Given the description of an element on the screen output the (x, y) to click on. 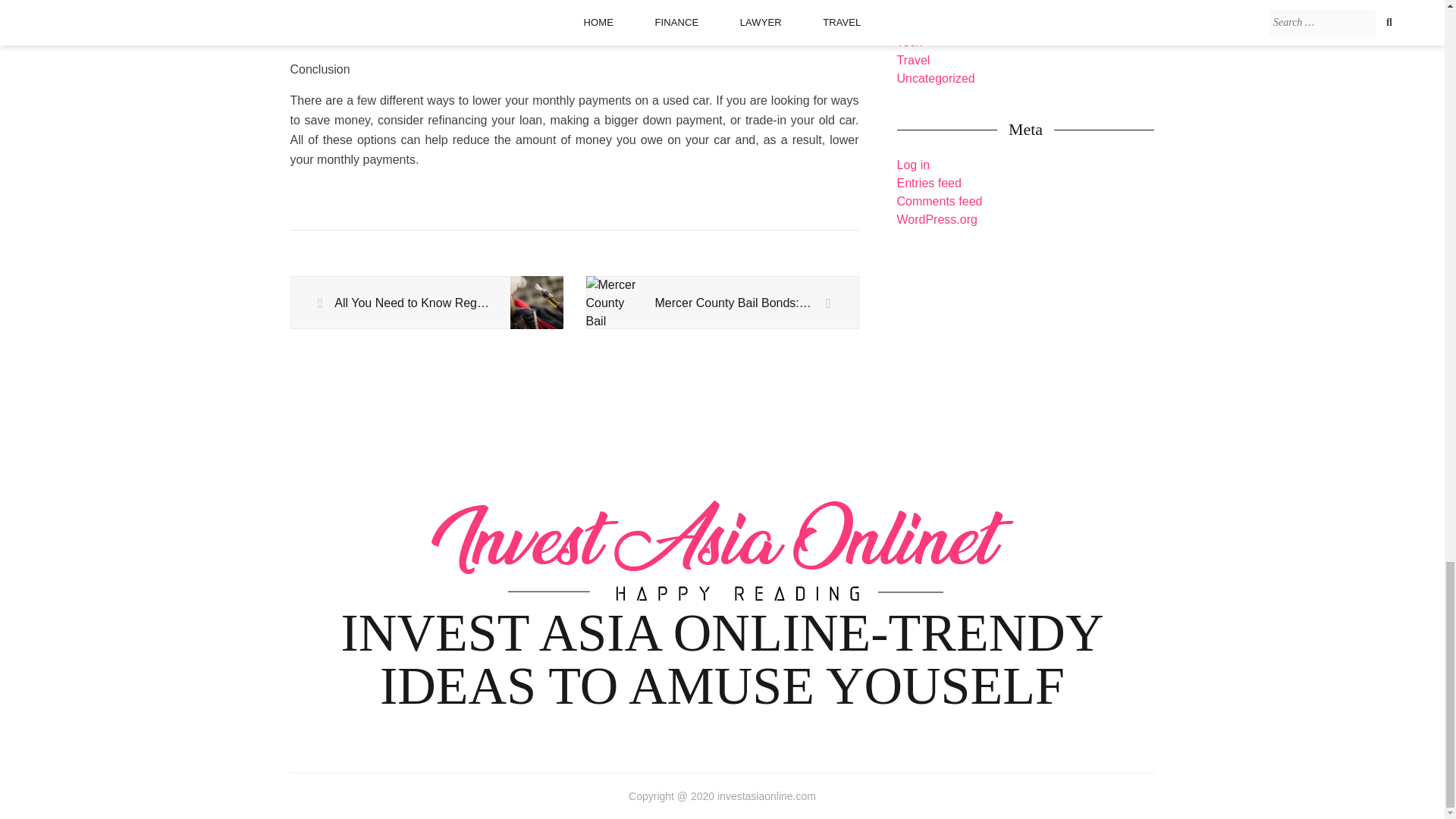
Mercer County Bail Bonds: Pros And Cons (722, 303)
All You Need to Know Regarding Delta-8 Vaping. (426, 303)
All You Need to Know Regarding Delta-8 Vaping. (426, 303)
